Given the description of an element on the screen output the (x, y) to click on. 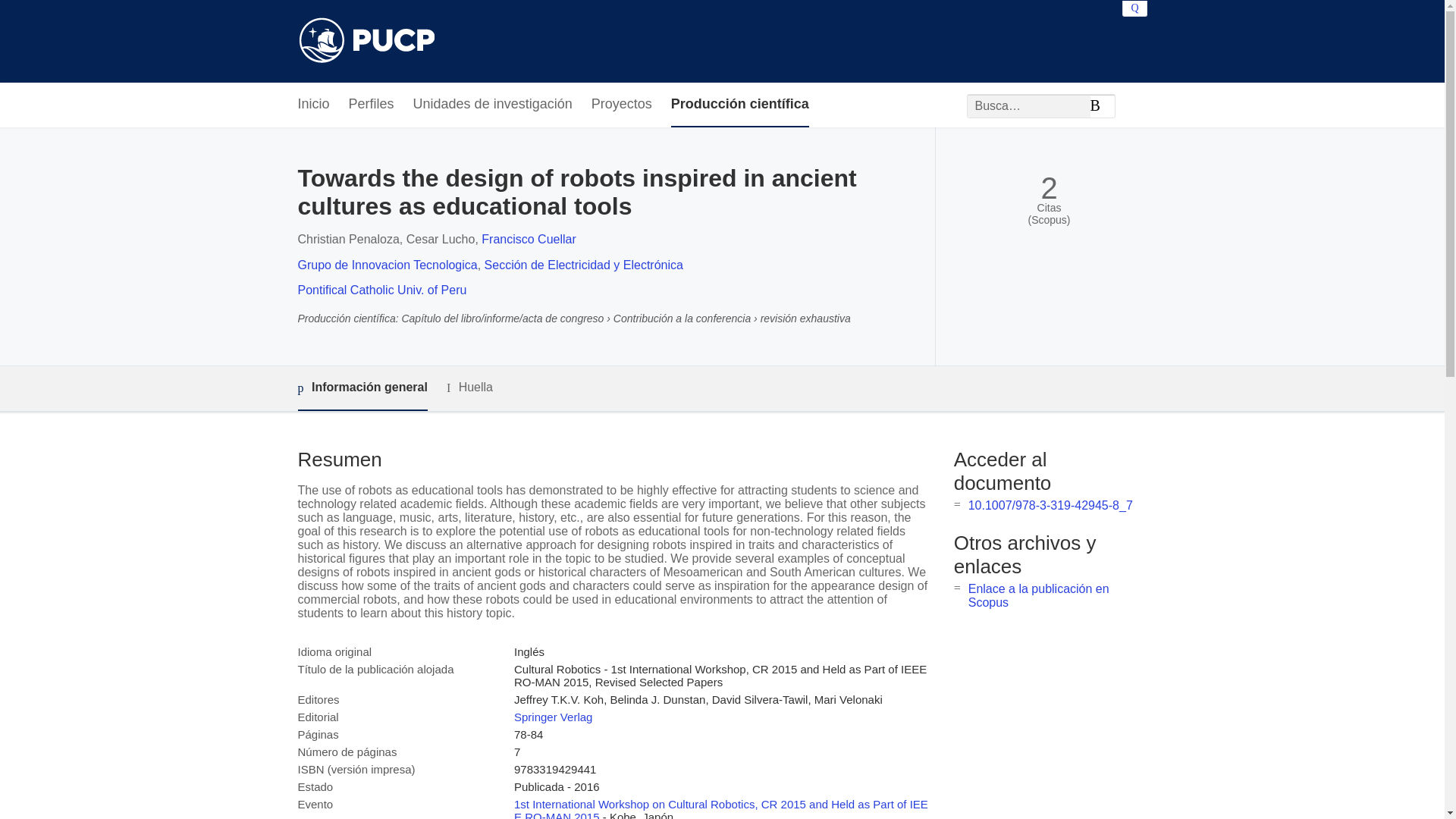
Grupo de Innovacion Tecnologica (387, 264)
Pontifical Catholic Univ. of Peru (381, 289)
Francisco Cuellar (528, 238)
Springer Verlag (552, 716)
Huella (469, 387)
Perfiles (371, 104)
Proyectos (621, 104)
